Given the description of an element on the screen output the (x, y) to click on. 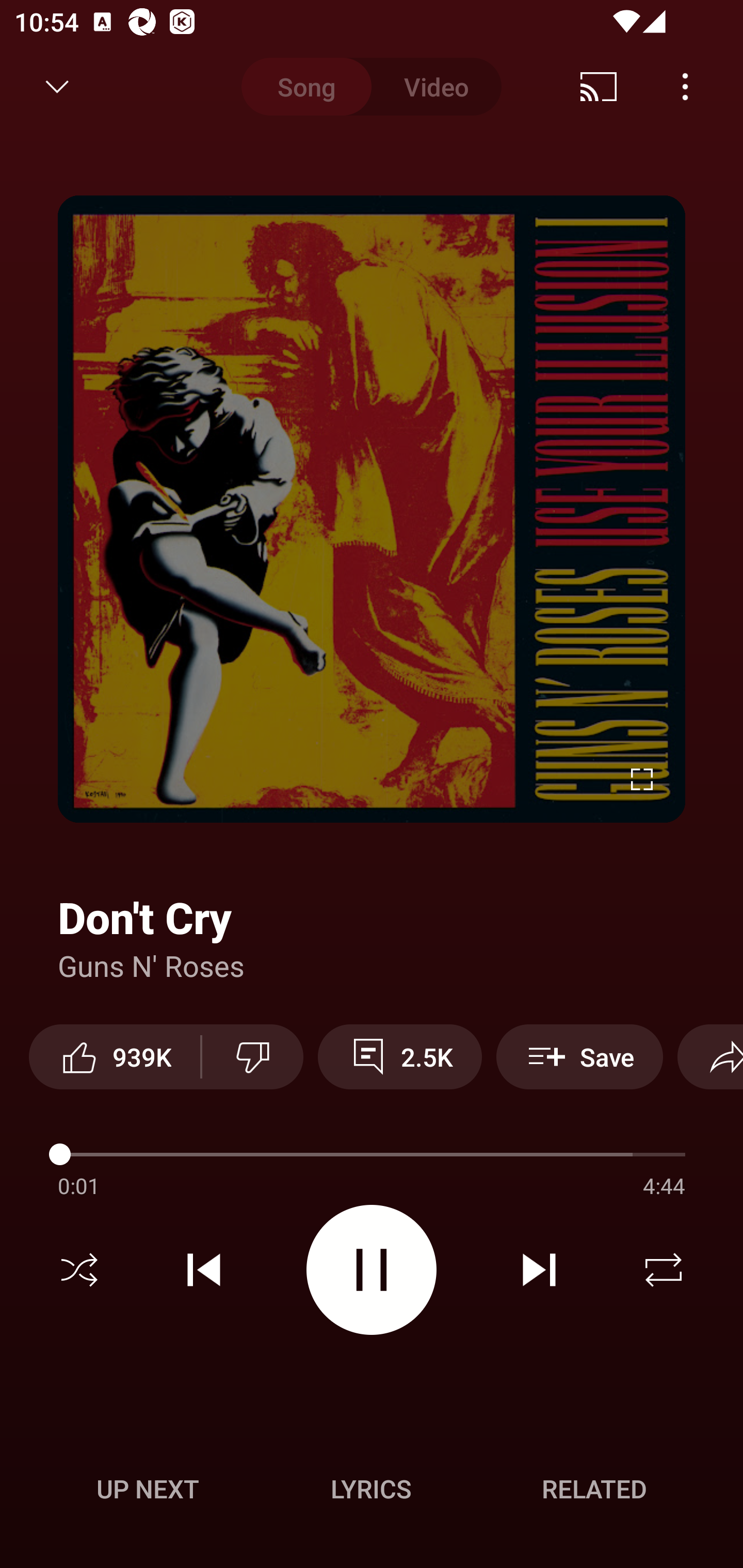
Minimize (57, 86)
Clear search (605, 86)
Voice search (699, 86)
Dislike (252, 1056)
2.5K View 2,529 comments (400, 1056)
Save Save to playlist (579, 1056)
Share (710, 1056)
Pause video (371, 1269)
Shuffle off (79, 1269)
Previous track (203, 1269)
Next track (538, 1269)
Repeat off (663, 1269)
Up next UP NEXT Lyrics LYRICS Related RELATED (371, 1491)
Lyrics LYRICS (370, 1488)
Related RELATED (594, 1488)
